Given the description of an element on the screen output the (x, y) to click on. 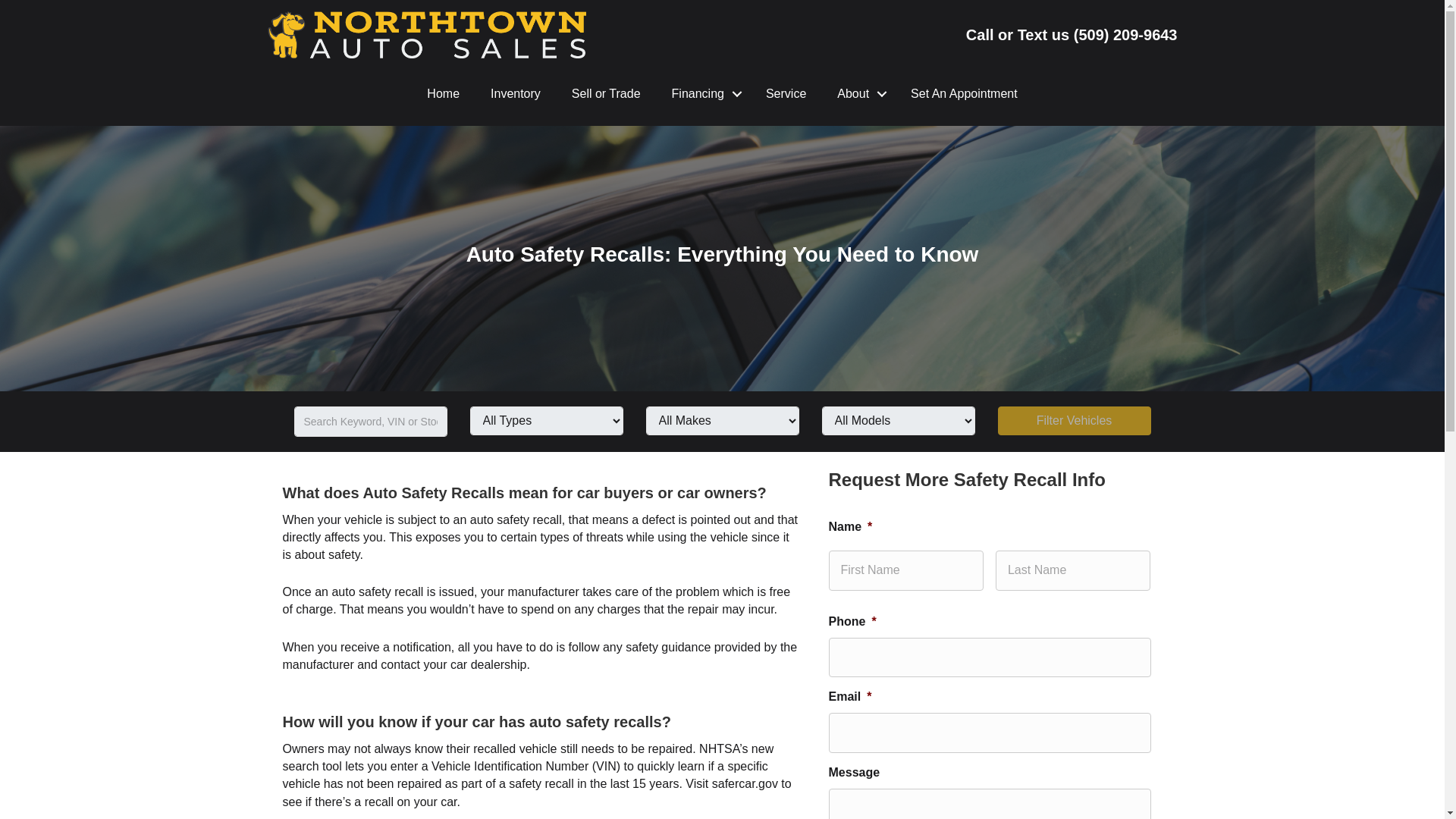
Service (786, 93)
2020-NAS-Logo-Wide-Light (425, 34)
Financing (702, 93)
Home (443, 93)
Set An Appointment (963, 93)
About (858, 93)
Filter Vehicles (1074, 420)
Sell or Trade (606, 93)
Inventory (516, 93)
